Given the description of an element on the screen output the (x, y) to click on. 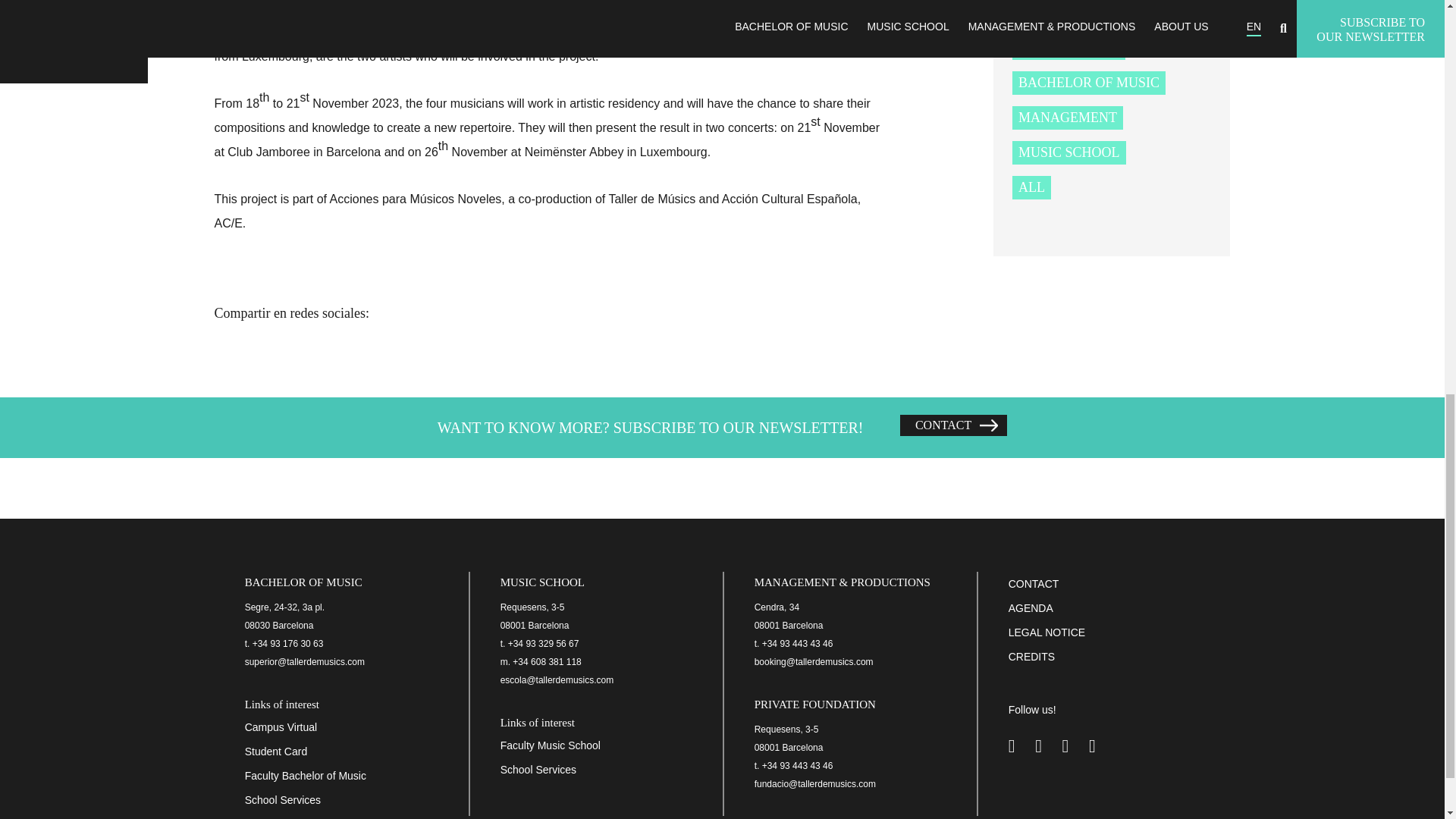
BACHELOR OF MUSIC (1087, 82)
ALL (1031, 186)
MUSIC SCHOOL (1068, 151)
MANAGEMENT (1066, 117)
CONTACT (953, 424)
ABOUT TALLER (1068, 47)
